Given the description of an element on the screen output the (x, y) to click on. 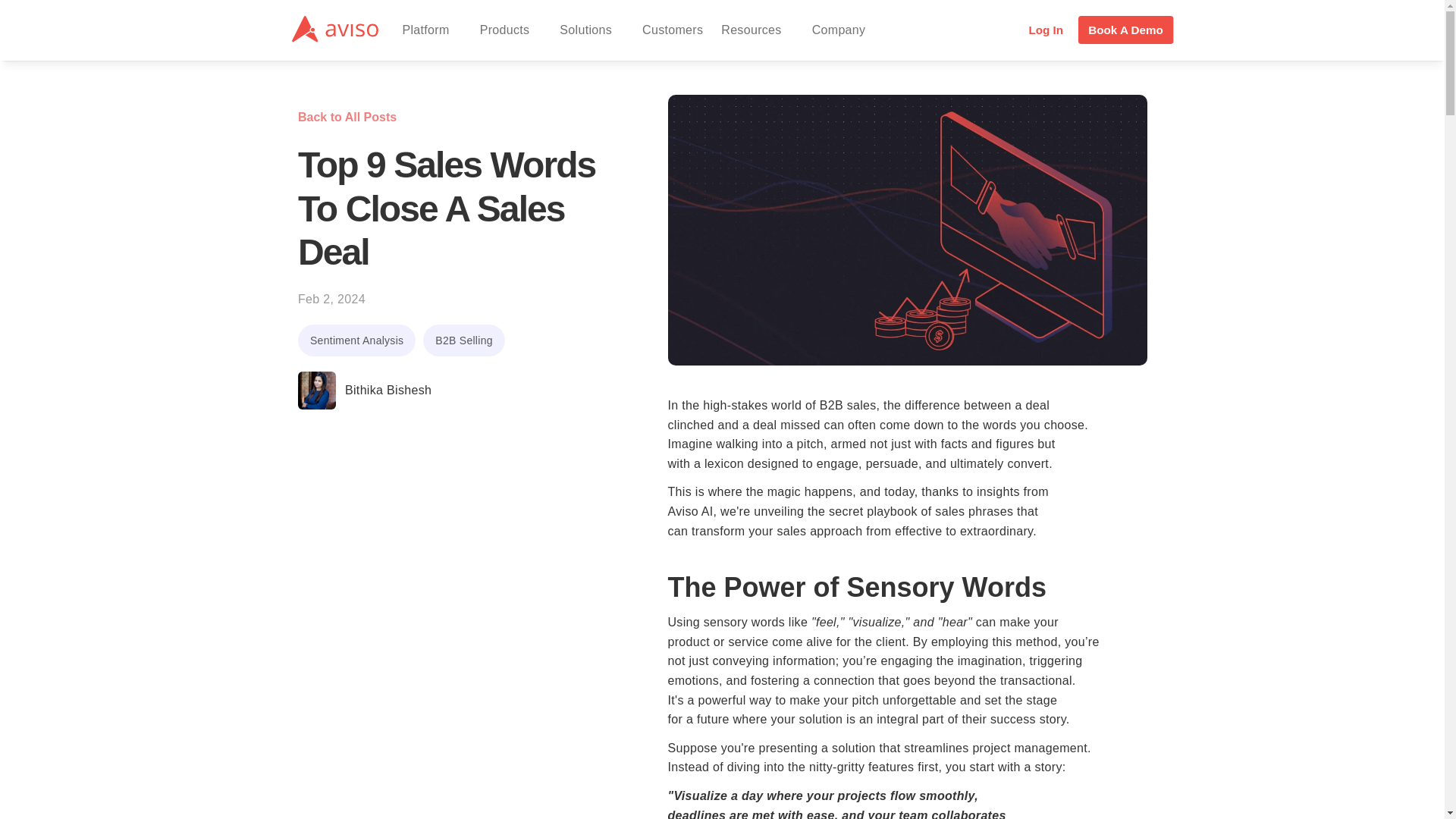
Sentiment Analysis (355, 340)
Platform (431, 30)
Book A Demo (1127, 29)
Company (844, 30)
Customers (672, 30)
Log In (1047, 30)
Bithika Bishesh (367, 390)
Back to All Posts (347, 116)
B2B Selling (463, 340)
Solutions (591, 30)
